Given the description of an element on the screen output the (x, y) to click on. 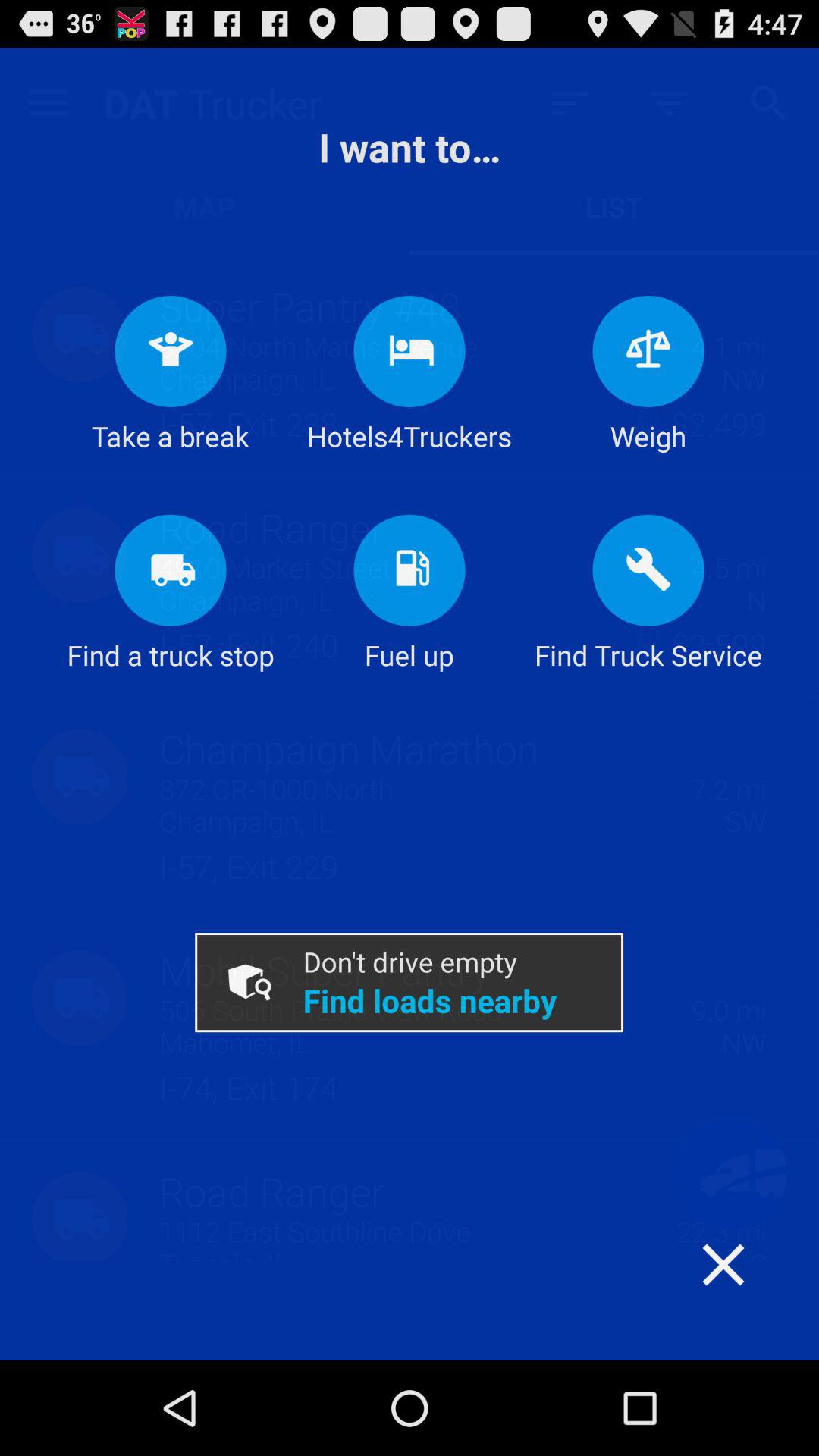
press the icon at the bottom right corner (753, 1294)
